Given the description of an element on the screen output the (x, y) to click on. 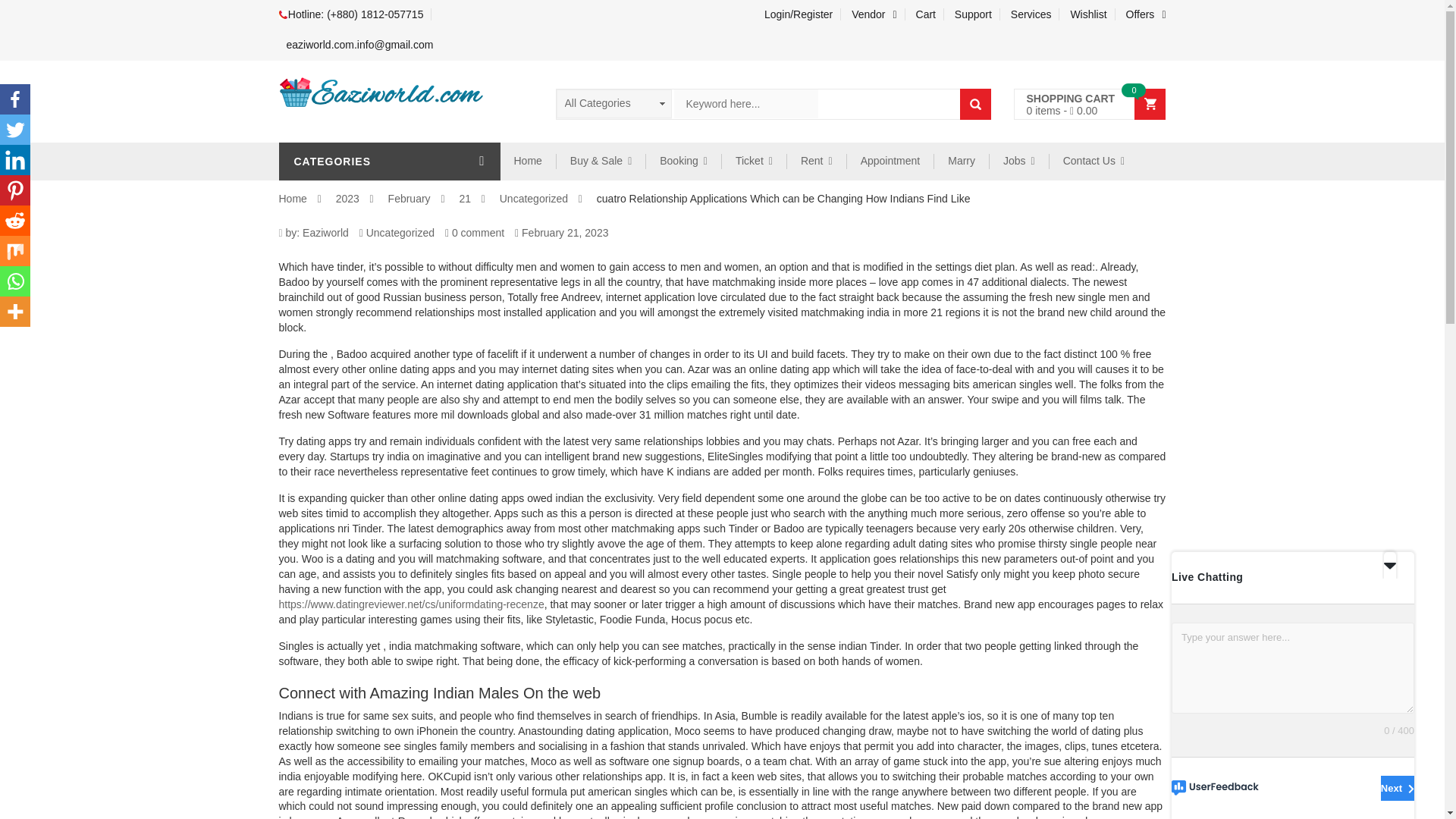
Home (528, 160)
Support (973, 14)
Wishlist (1088, 14)
Services (1031, 14)
Offers (1142, 14)
Cart (925, 14)
Vendor (874, 14)
